Given the description of an element on the screen output the (x, y) to click on. 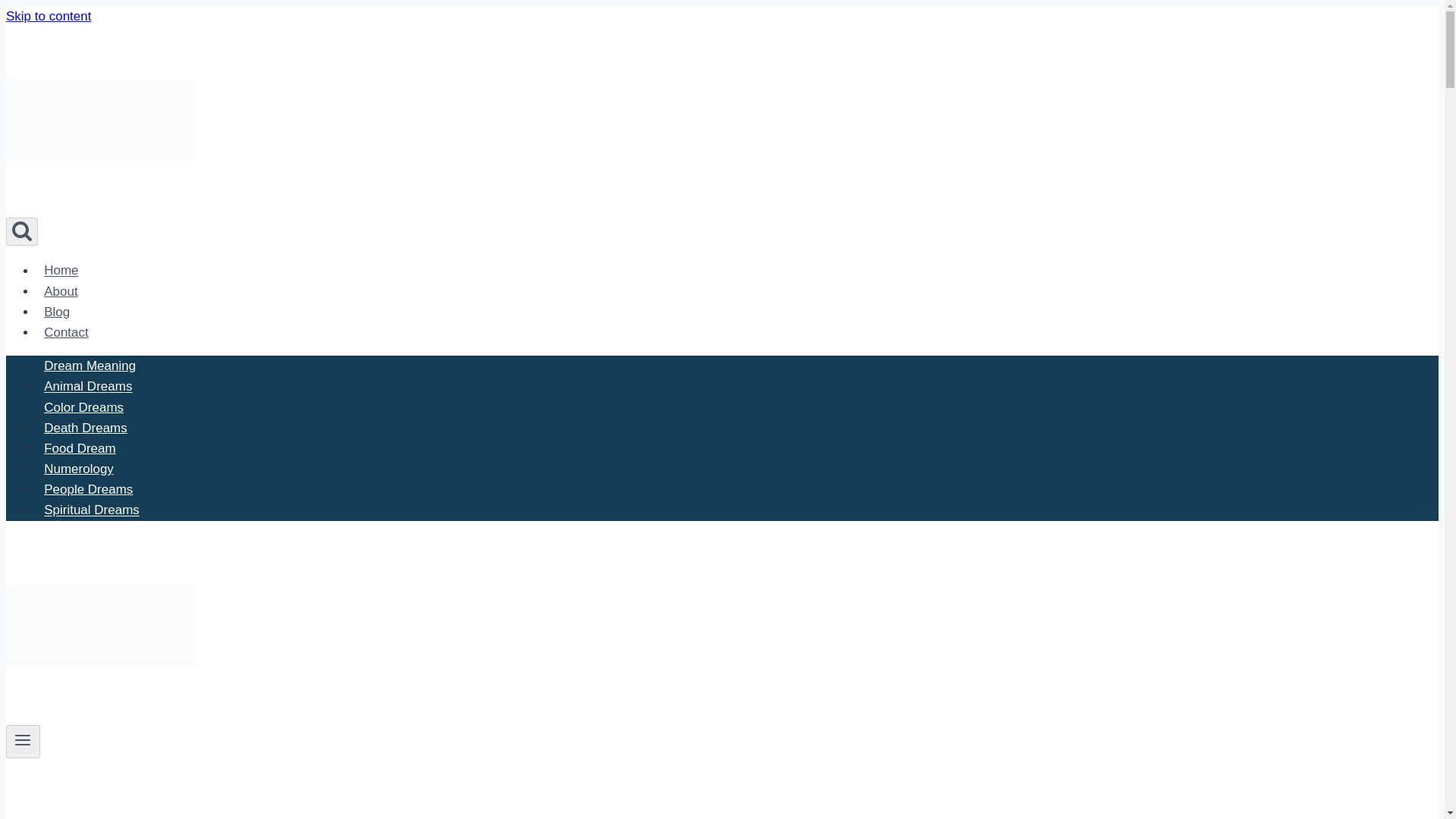
Color Dreams (83, 407)
Toggle Menu (22, 740)
Toggle Menu (22, 741)
Blog (56, 311)
Search (21, 230)
Skip to content (47, 16)
Home (60, 270)
Death Dreams (85, 428)
Skip to content (47, 16)
Numerology (78, 469)
Spiritual Dreams (91, 509)
Food Dream (79, 448)
Contact (66, 332)
Search (21, 231)
People Dreams (88, 489)
